Given the description of an element on the screen output the (x, y) to click on. 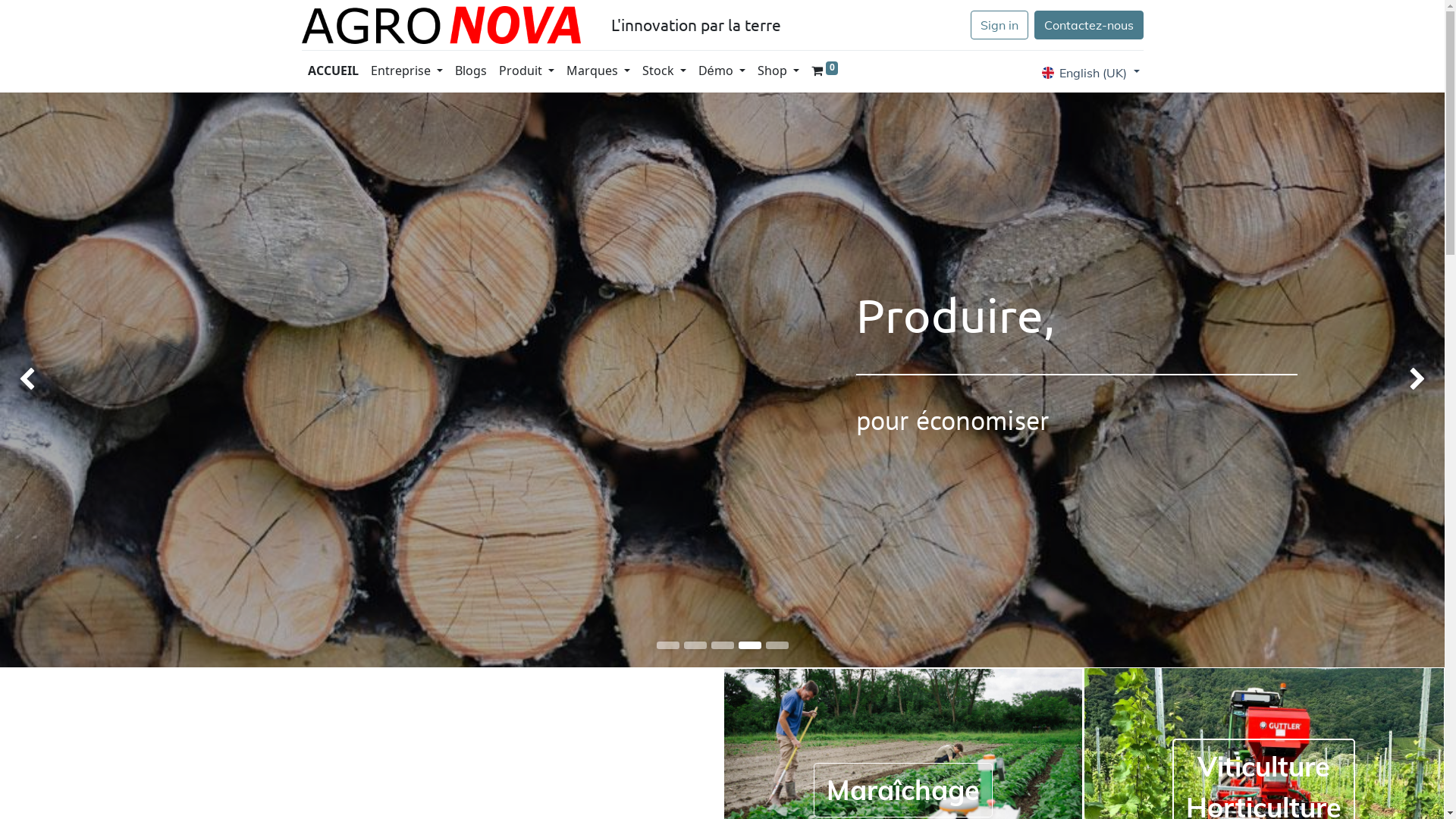
Suivant Element type: text (1386, 379)
Sign in Element type: text (999, 24)
Stock Element type: text (664, 71)
ACCUEIL Element type: text (332, 71)
Shop Element type: text (778, 71)
Entreprise Element type: text (406, 71)
English (UK) Element type: text (1090, 71)
Marques Element type: text (598, 71)
Blogs Element type: text (470, 71)
0 Element type: text (824, 71)
Contactez-nous Element type: text (1088, 24)
Agronova Element type: hover (440, 24)
Produit Element type: text (526, 71)
